Given the description of an element on the screen output the (x, y) to click on. 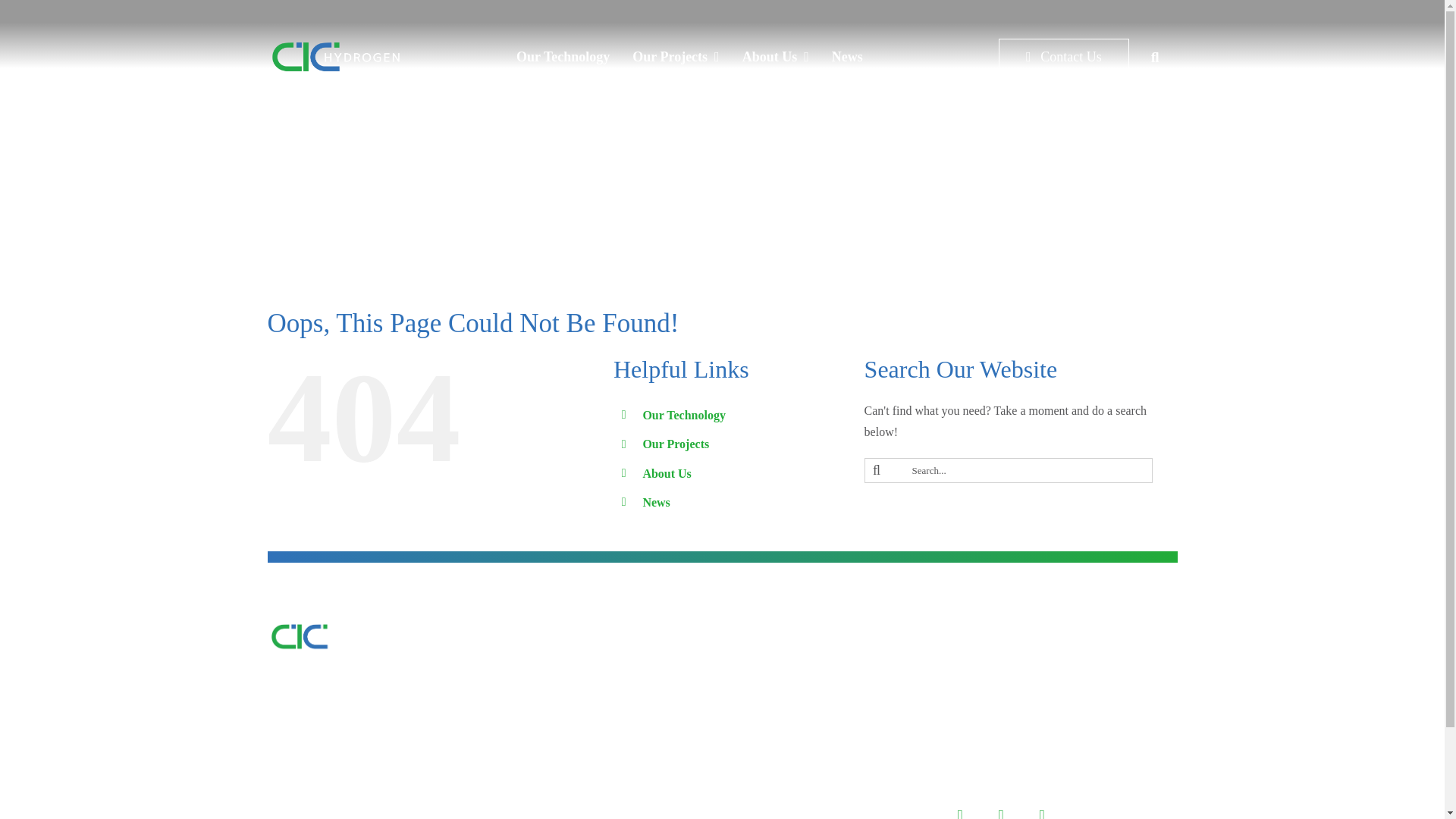
Our Projects (675, 56)
X (1000, 808)
About Us (775, 56)
Facebook (959, 808)
LinkedIn (1041, 808)
News (848, 56)
Our Technology (563, 56)
Contact Us (1063, 56)
